Given the description of an element on the screen output the (x, y) to click on. 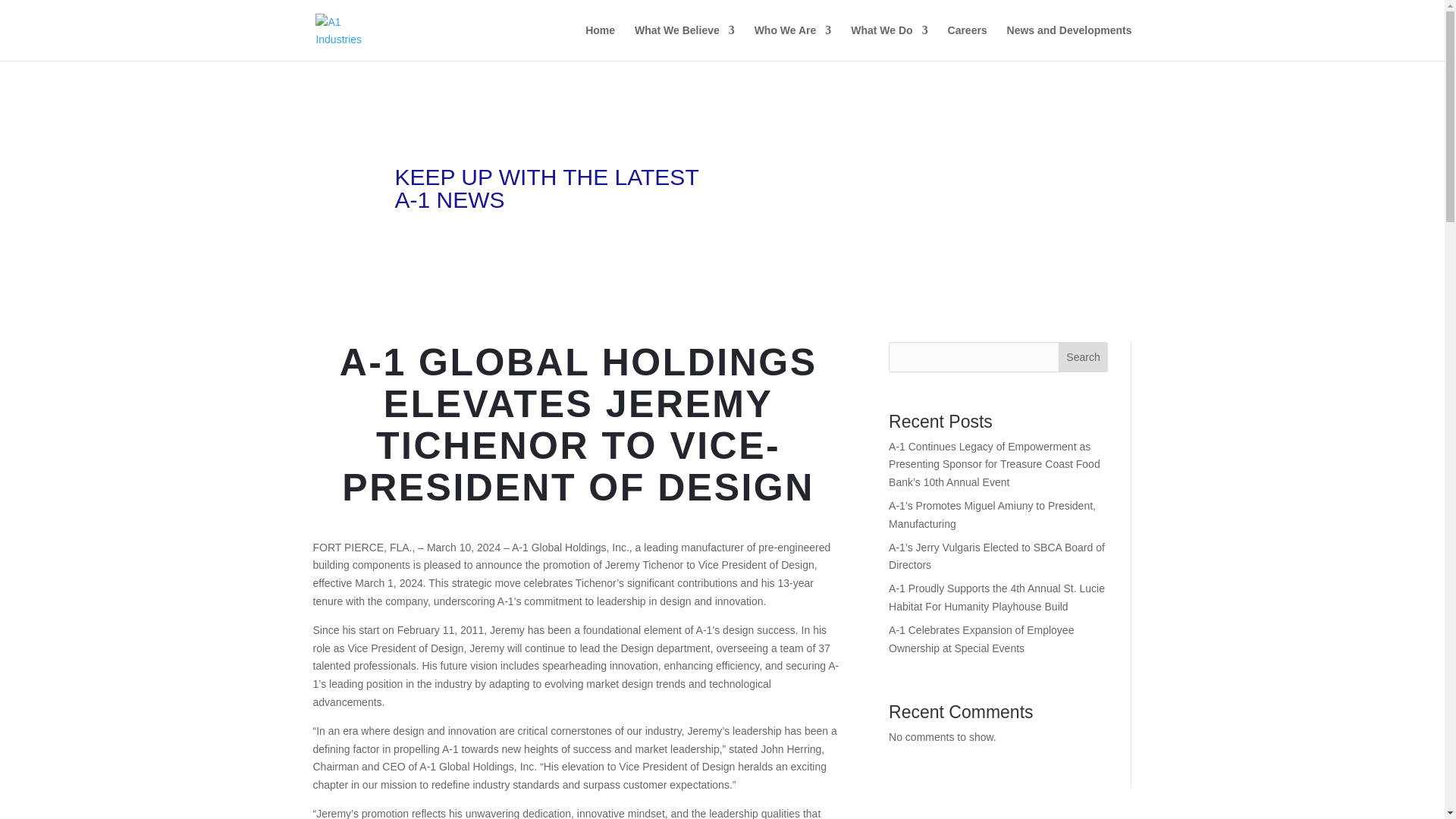
Home (599, 42)
Who We Are (792, 42)
Search (1083, 357)
What We Do (888, 42)
Careers (967, 42)
News and Developments (1069, 42)
What We Believe (684, 42)
